Given the description of an element on the screen output the (x, y) to click on. 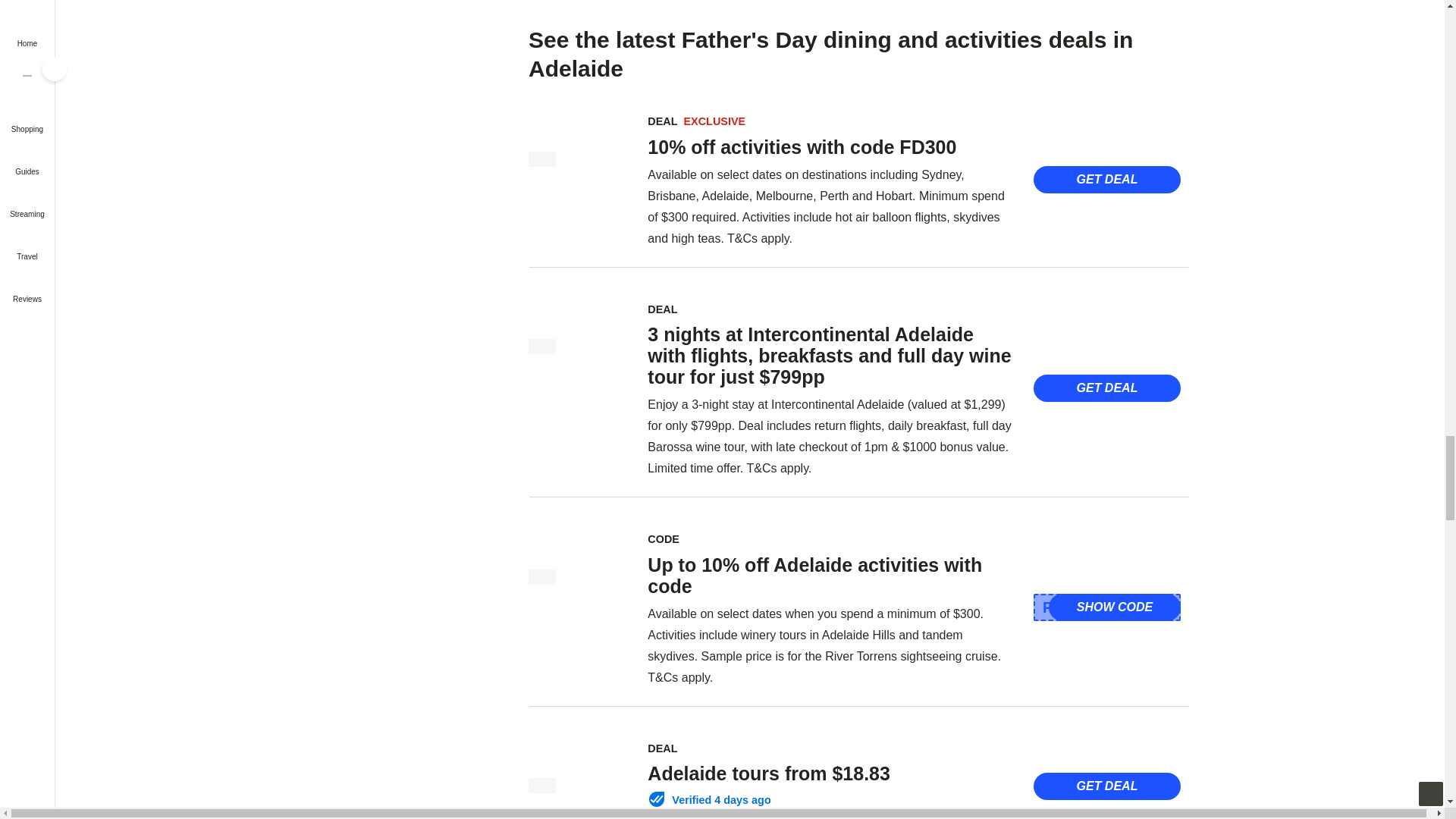
Viator (542, 785)
RedBalloon (542, 576)
My Holiday (542, 346)
RedBalloon (542, 159)
